Given the description of an element on the screen output the (x, y) to click on. 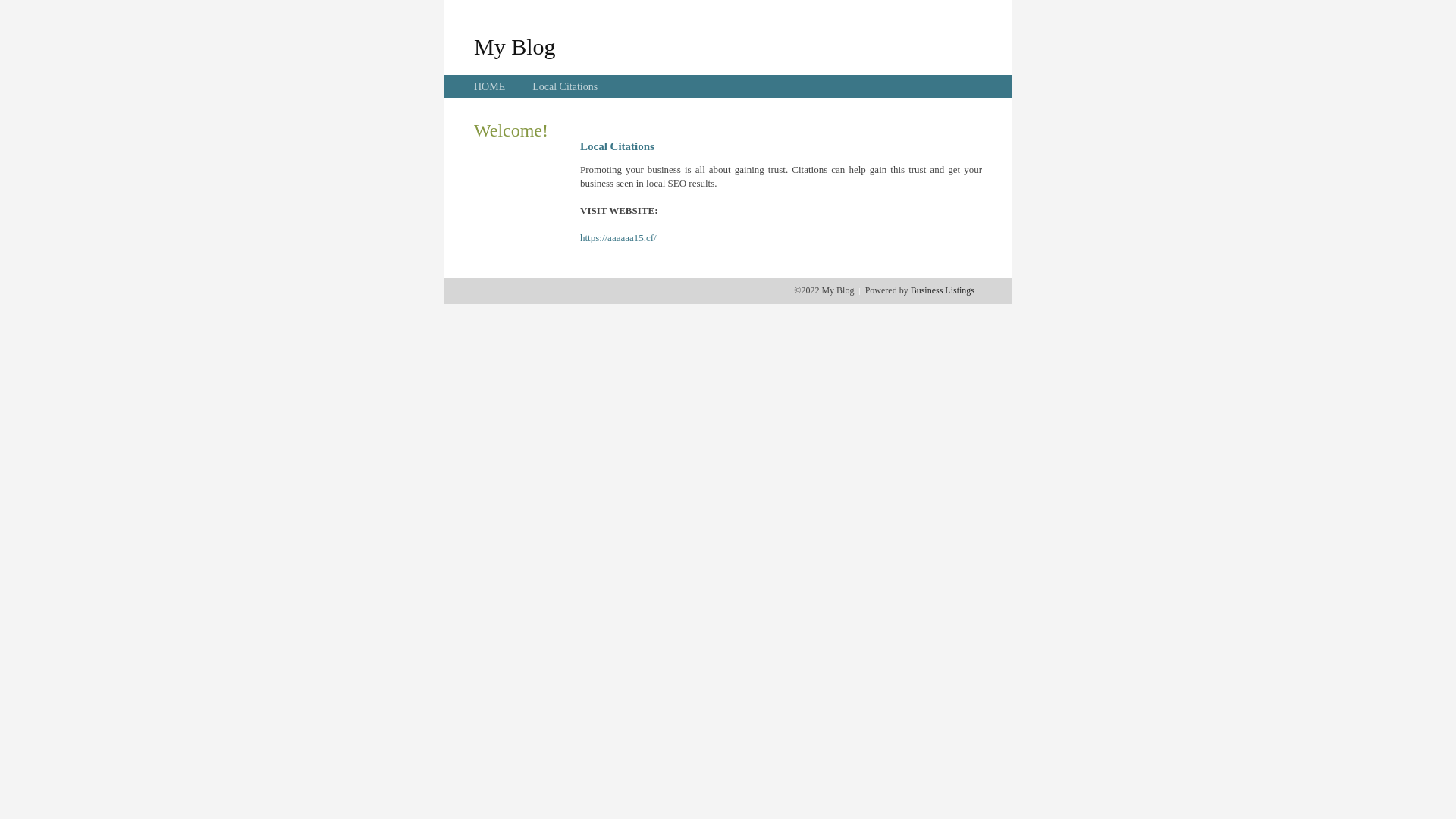
Local Citations Element type: text (564, 86)
Business Listings Element type: text (942, 290)
https://aaaaaa15.cf/ Element type: text (618, 237)
My Blog Element type: text (514, 46)
HOME Element type: text (489, 86)
